Given the description of an element on the screen output the (x, y) to click on. 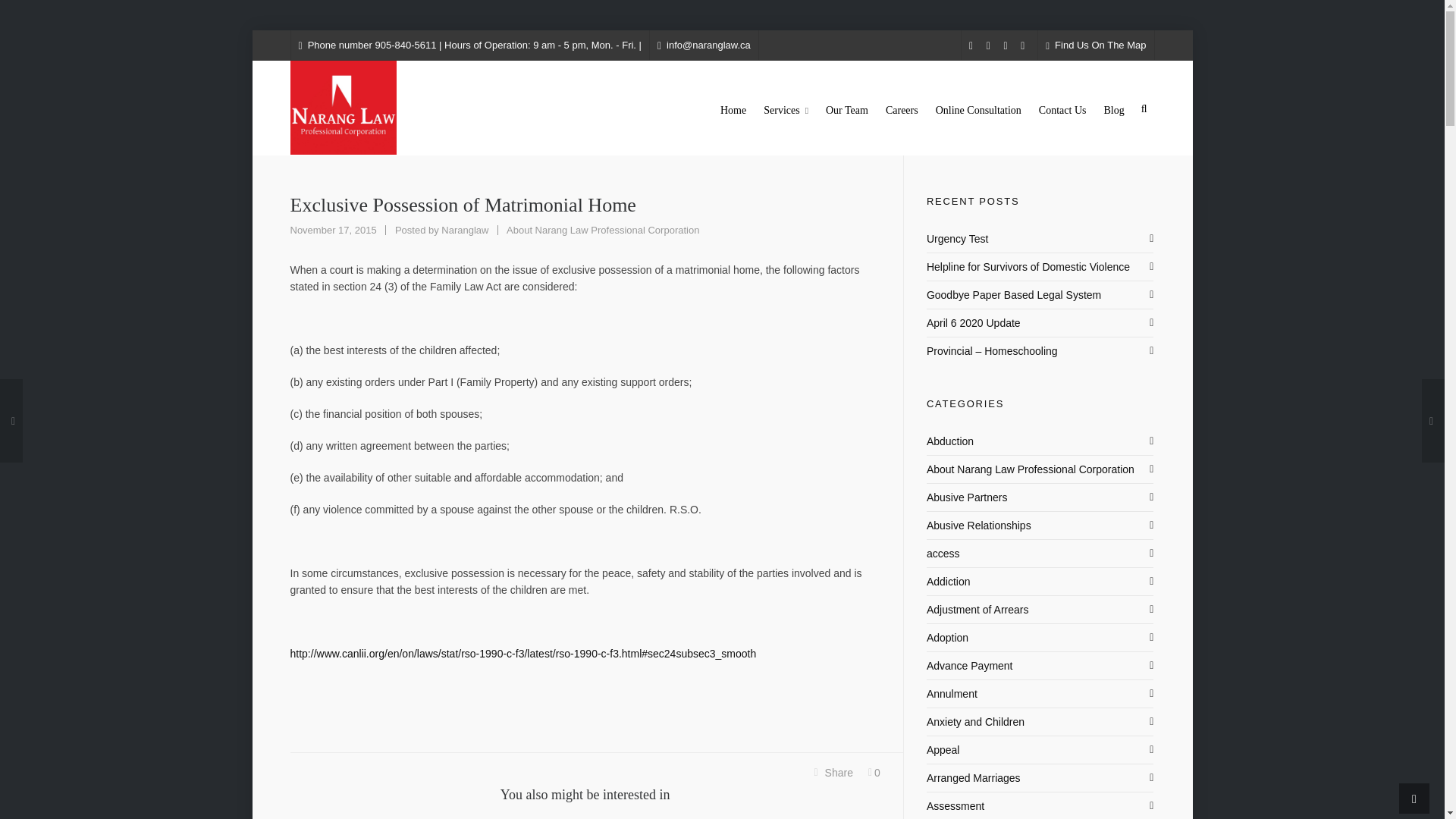
Find Us On The Map (1095, 45)
Posts by Naranglaw (464, 229)
905-840-5611 (405, 45)
